Given the description of an element on the screen output the (x, y) to click on. 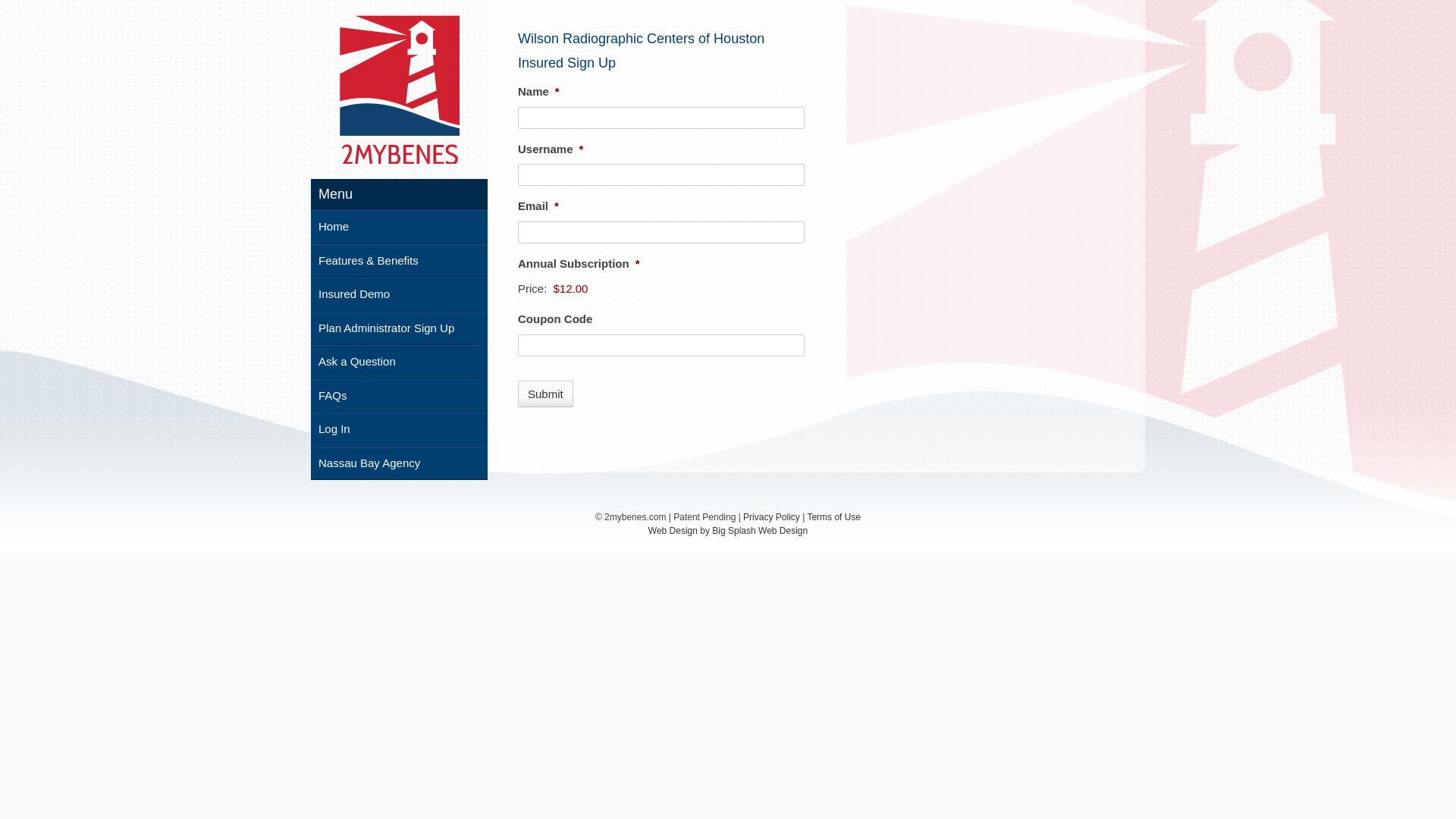
Big Splash Web Design Element type: text (759, 530)
Web Design Element type: text (672, 530)
Plan Administrator Sign Up Element type: text (398, 327)
Home Element type: text (398, 227)
Terms of Use Element type: text (833, 516)
Log In Element type: text (398, 429)
Ask a Question Element type: text (398, 362)
2mybenes.com Element type: text (399, 89)
Privacy Policy Element type: text (771, 516)
FAQs Element type: text (398, 396)
Insured Demo Element type: text (398, 294)
Features & Benefits Element type: text (398, 261)
Nassau Bay Agency Element type: text (398, 462)
Submit Element type: text (545, 393)
